Given the description of an element on the screen output the (x, y) to click on. 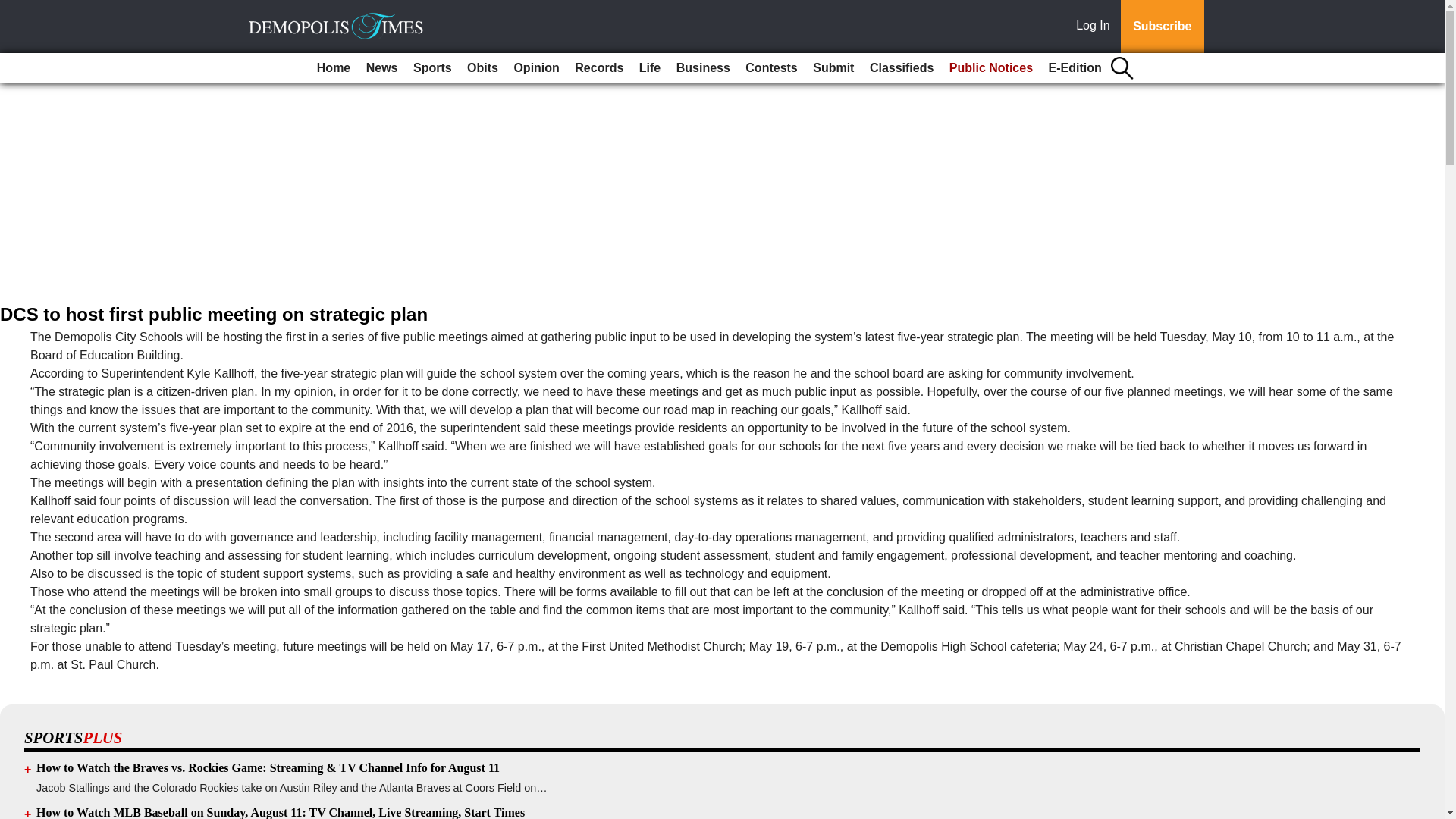
Records (598, 68)
Go (13, 9)
Classifieds (901, 68)
Life (649, 68)
Opinion (535, 68)
News (381, 68)
Sports (432, 68)
Home (333, 68)
Obits (482, 68)
